Given the description of an element on the screen output the (x, y) to click on. 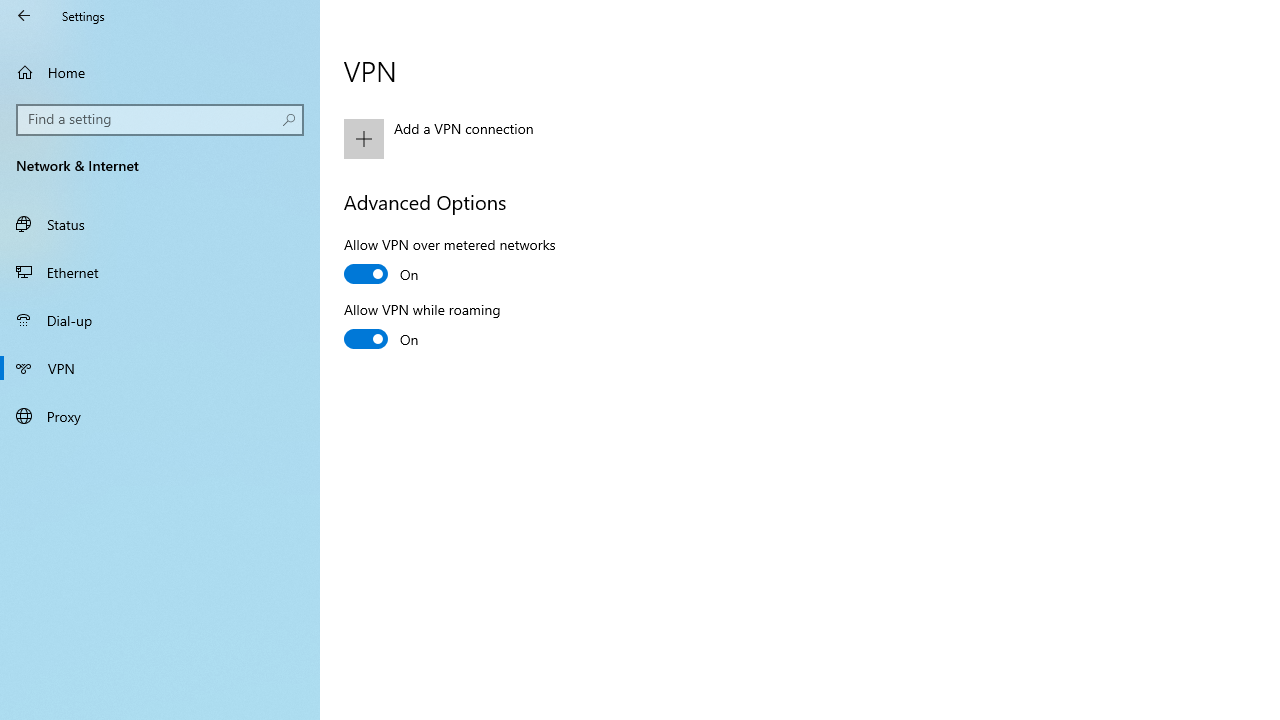
Add a VPN connection (563, 138)
Status (160, 223)
Search box, Find a setting (160, 119)
VPN (160, 367)
Dial-up (160, 319)
Allow VPN while roaming (422, 327)
Proxy (160, 415)
Allow VPN over metered networks (449, 262)
Ethernet (160, 271)
